Given the description of an element on the screen output the (x, y) to click on. 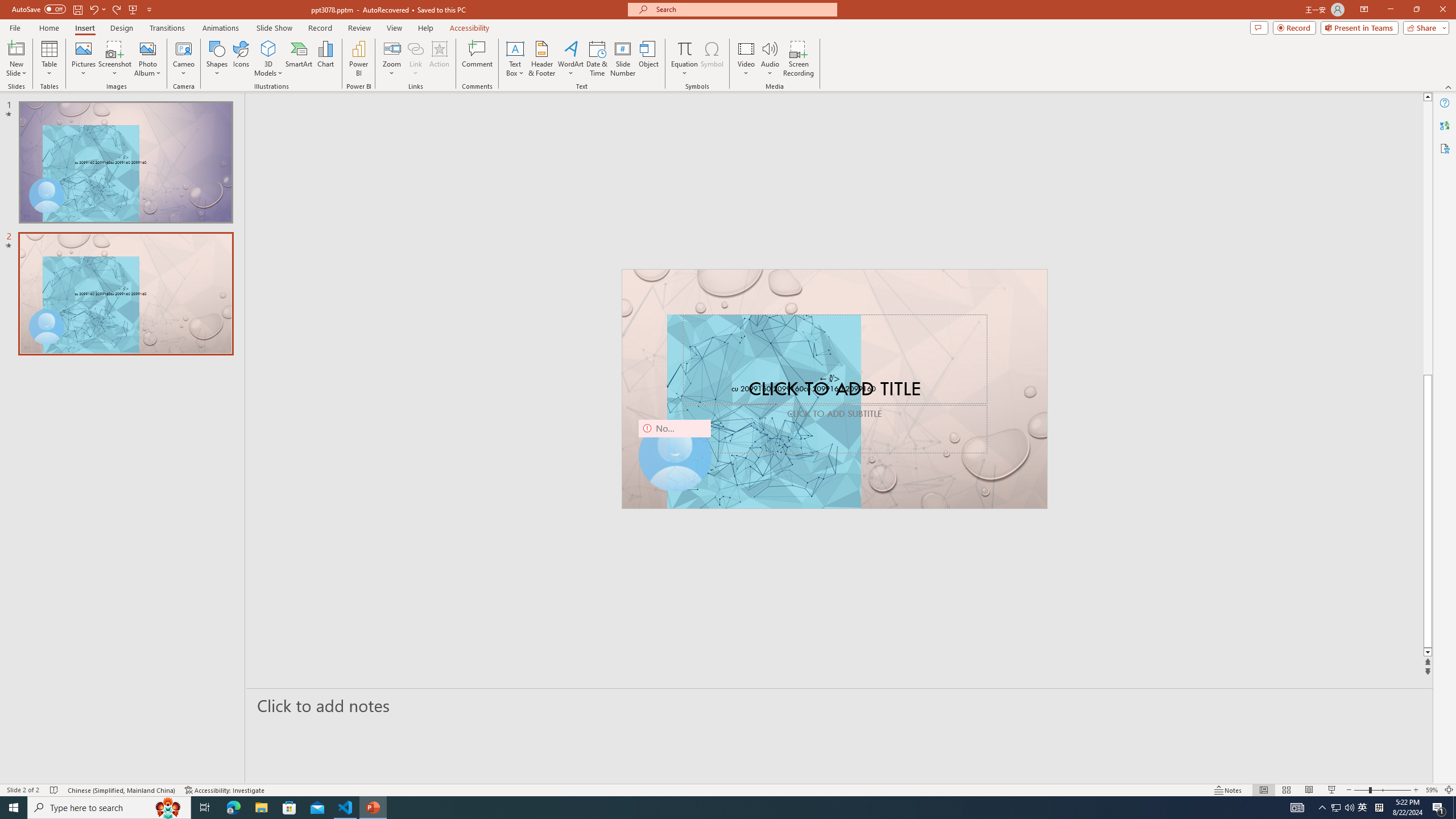
Action (439, 58)
Chart... (325, 58)
New Photo Album... (147, 48)
